Given the description of an element on the screen output the (x, y) to click on. 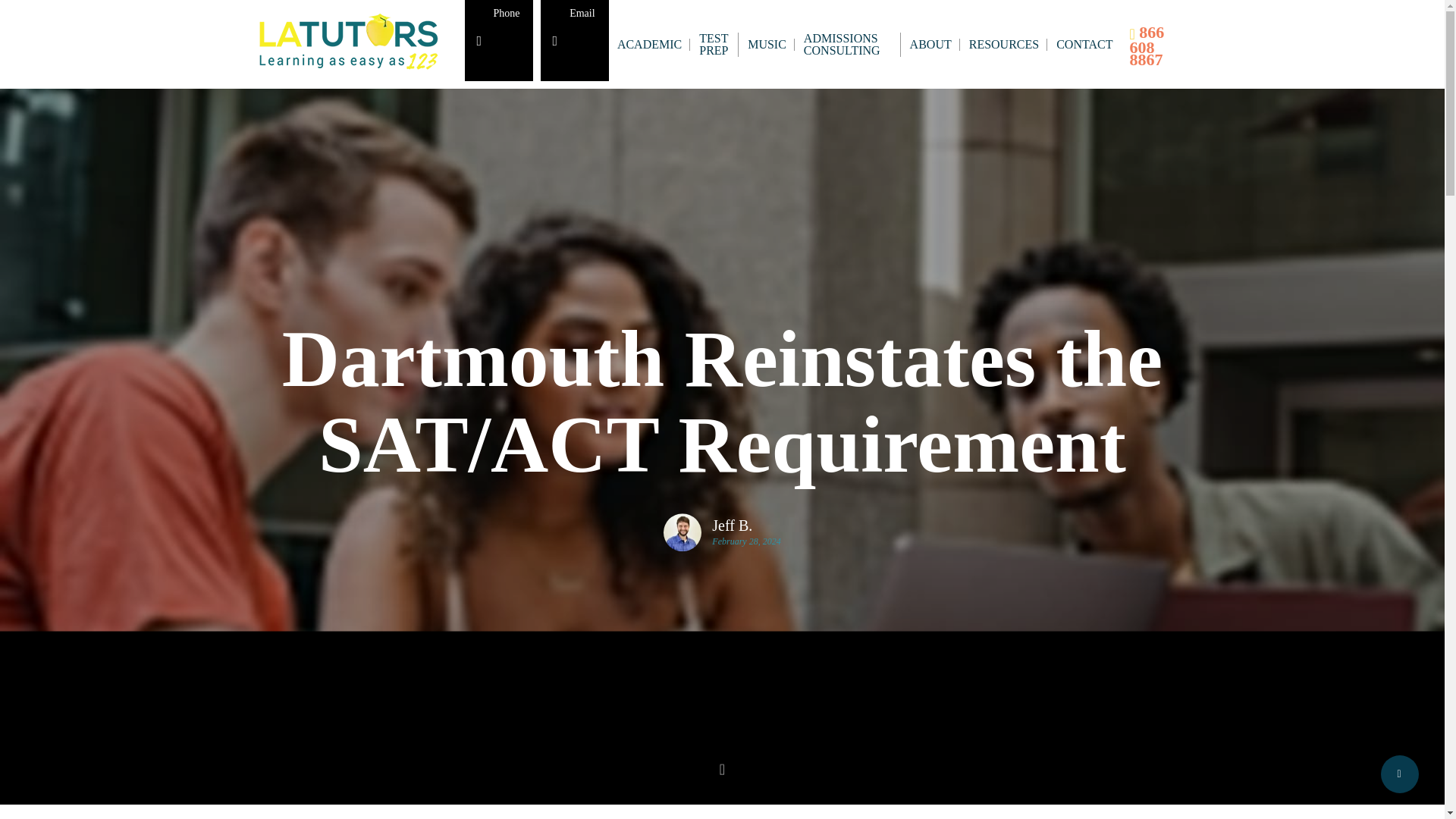
Posts by Jeff B. (745, 525)
MUSIC (766, 43)
TEST PREP (714, 43)
ACADEMIC (650, 43)
ADMISSIONS CONSULTING (848, 43)
